Given the description of an element on the screen output the (x, y) to click on. 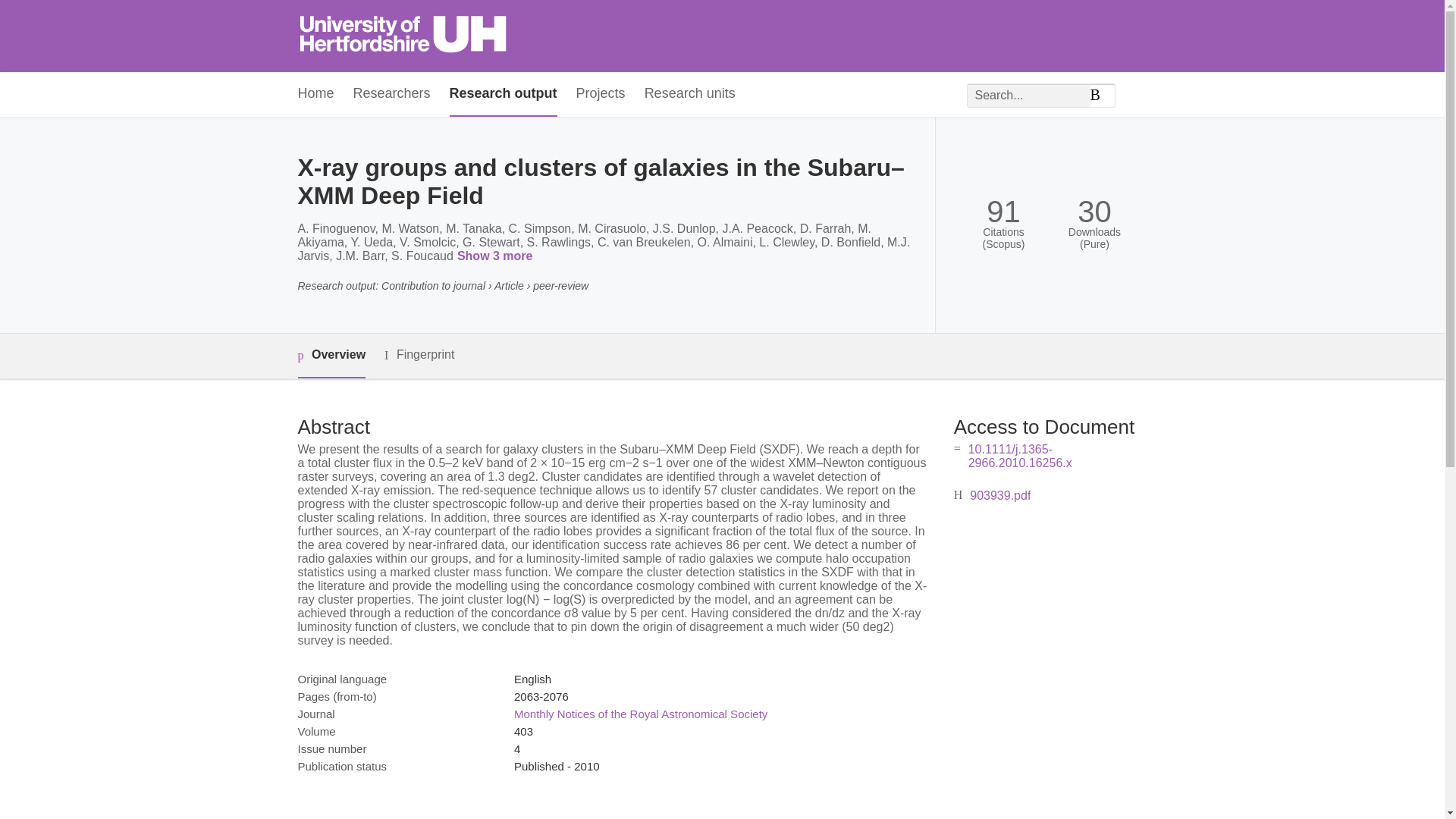
903939.pdf (999, 495)
Research output (503, 94)
Research units (690, 94)
Show 3 more (496, 256)
Monthly Notices of the Royal Astronomical Society (640, 713)
Projects (601, 94)
Researchers (391, 94)
Overview (331, 355)
Fingerprint (419, 354)
